Given the description of an element on the screen output the (x, y) to click on. 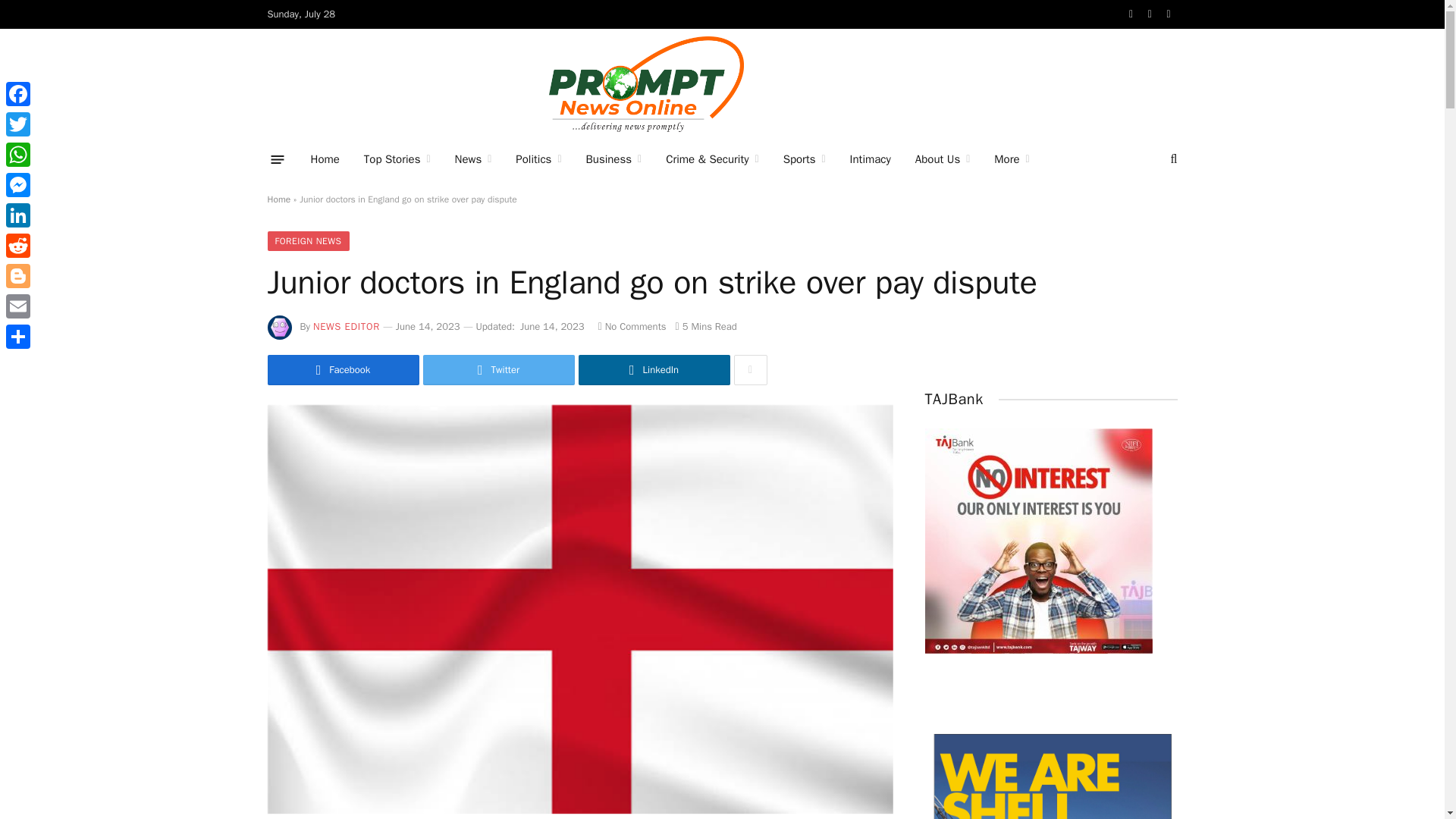
News (472, 159)
Top Stories (397, 159)
Home (325, 159)
Prompt News (645, 83)
